Given the description of an element on the screen output the (x, y) to click on. 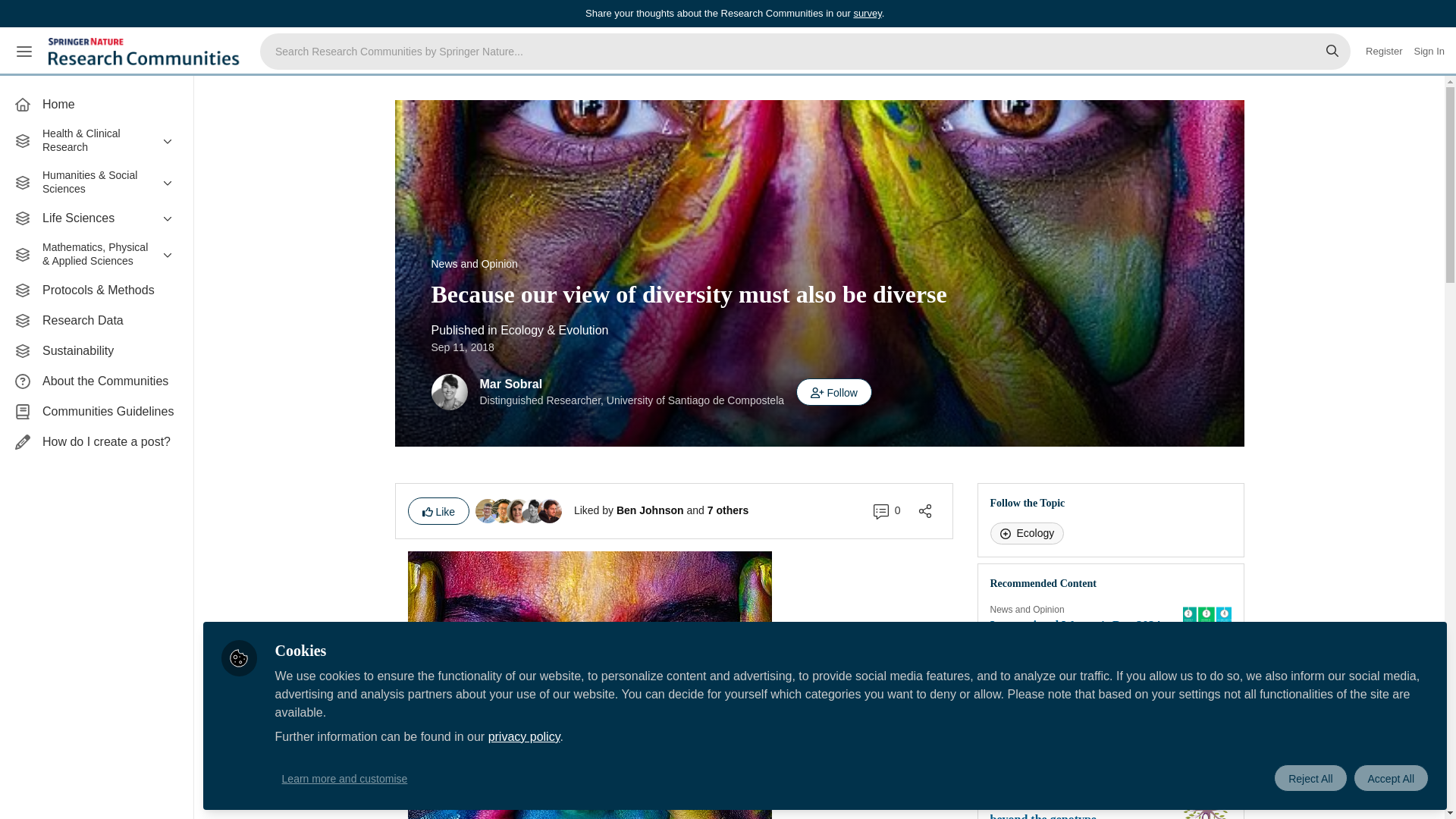
Life Sciences (96, 217)
Life Sciences (96, 217)
Menu (24, 51)
Search (1332, 51)
Home (96, 103)
Home (96, 103)
Research Communities by Springer Nature (146, 51)
survey (866, 12)
